Given the description of an element on the screen output the (x, y) to click on. 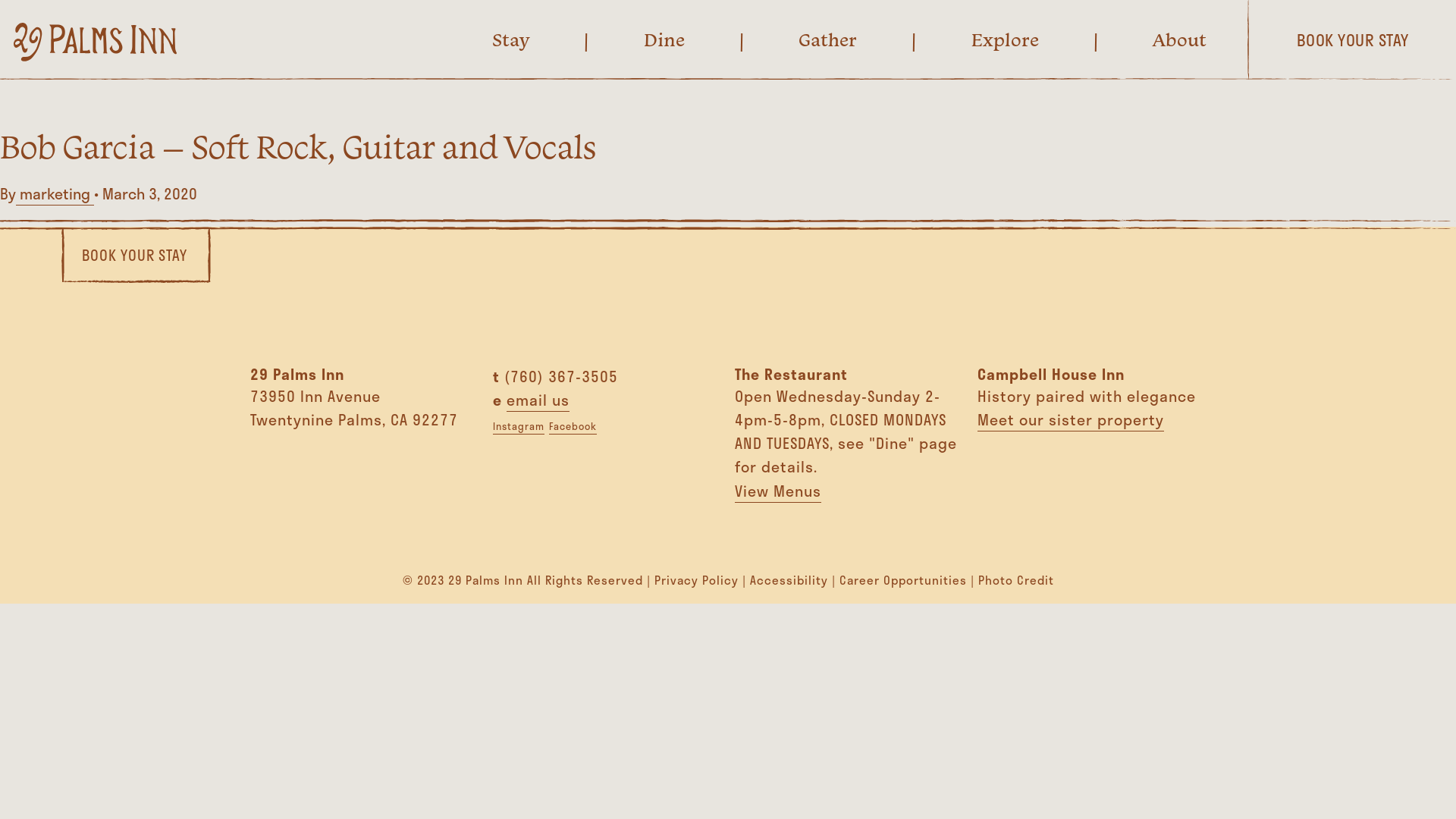
email us Element type: text (537, 399)
Facebook Element type: text (572, 426)
Instagram Element type: text (518, 426)
Photo Credit Element type: text (1016, 580)
Stay Element type: text (510, 39)
Accessibility Element type: text (788, 580)
About Element type: text (1179, 39)
Career Opportunities Element type: text (902, 580)
Gather Element type: text (827, 39)
BOOK YOUR STAY Element type: text (134, 255)
Dine Element type: text (663, 39)
Privacy Policy Element type: text (695, 580)
View Menus Element type: text (777, 490)
Explore Element type: text (1004, 39)
marketing Element type: text (54, 193)
Meet our sister property Element type: text (1069, 419)
